Given the description of an element on the screen output the (x, y) to click on. 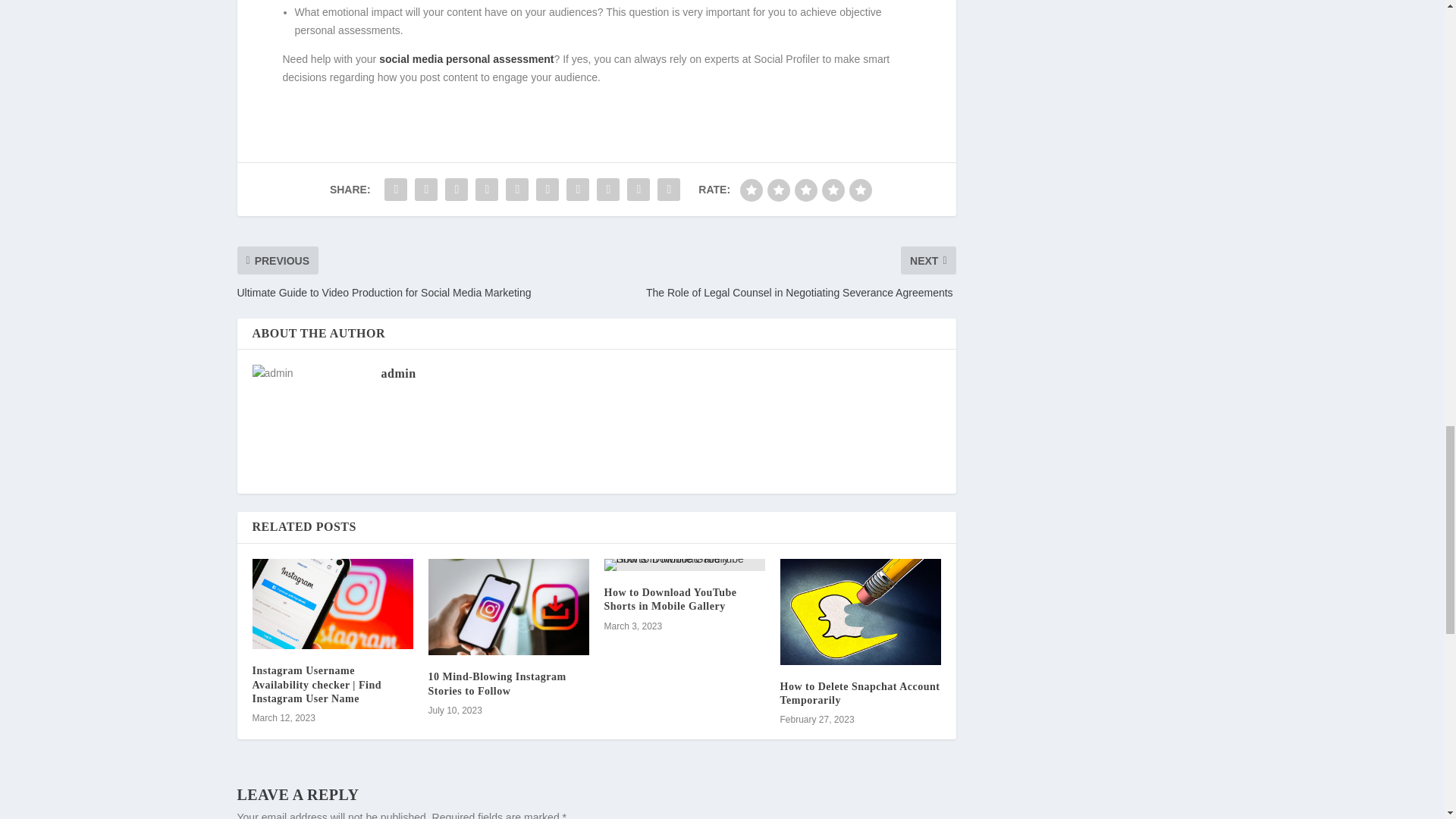
social media personal assessment (465, 59)
admin (397, 373)
